Given the description of an element on the screen output the (x, y) to click on. 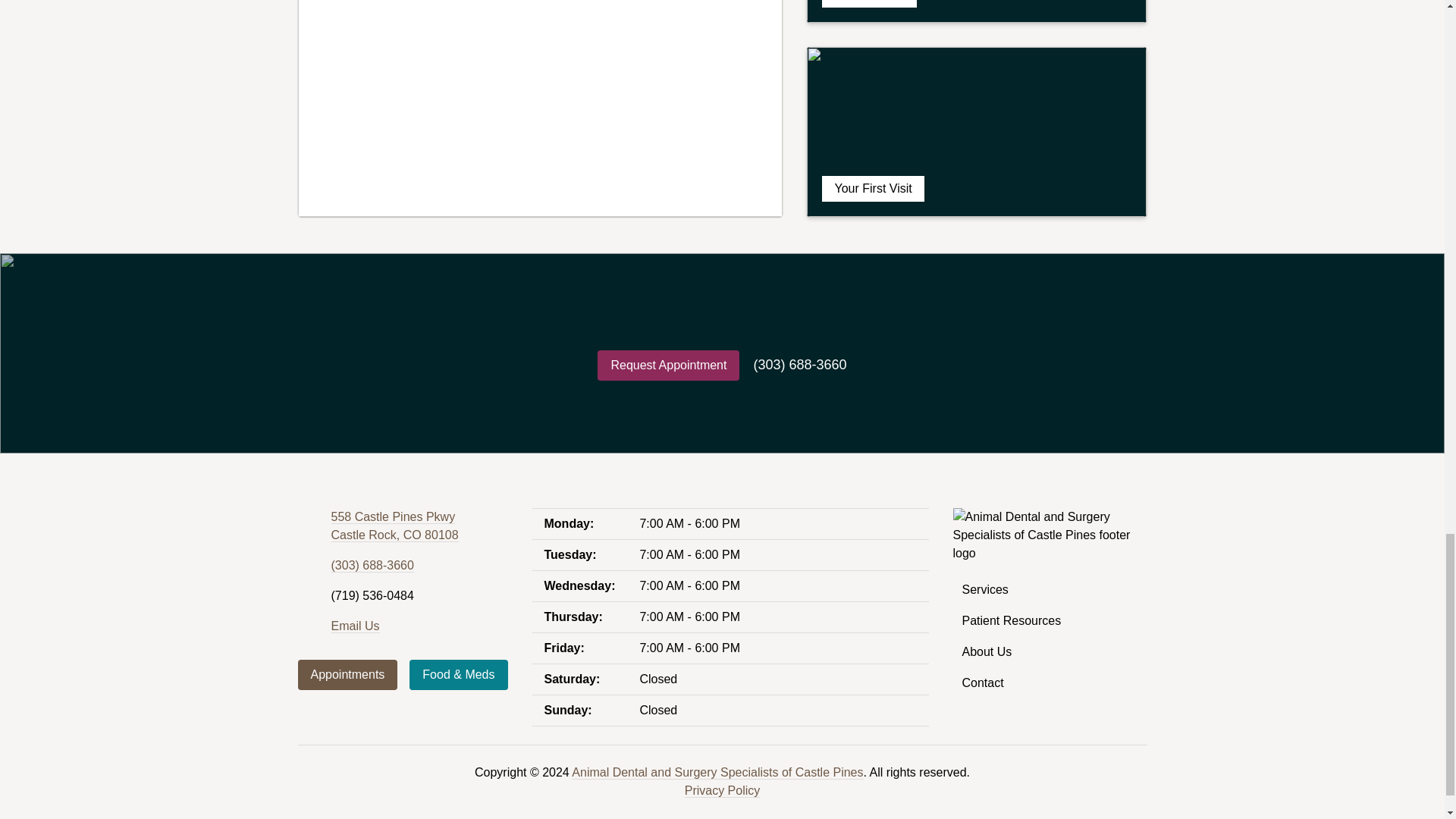
Email Us (354, 626)
Request Appointment (667, 365)
Open this Address on Google Maps (394, 526)
Your First Visit (394, 526)
Appointments (976, 131)
Our Services (347, 675)
Call Us (976, 11)
Appointments (371, 565)
Email Us (347, 675)
